Given the description of an element on the screen output the (x, y) to click on. 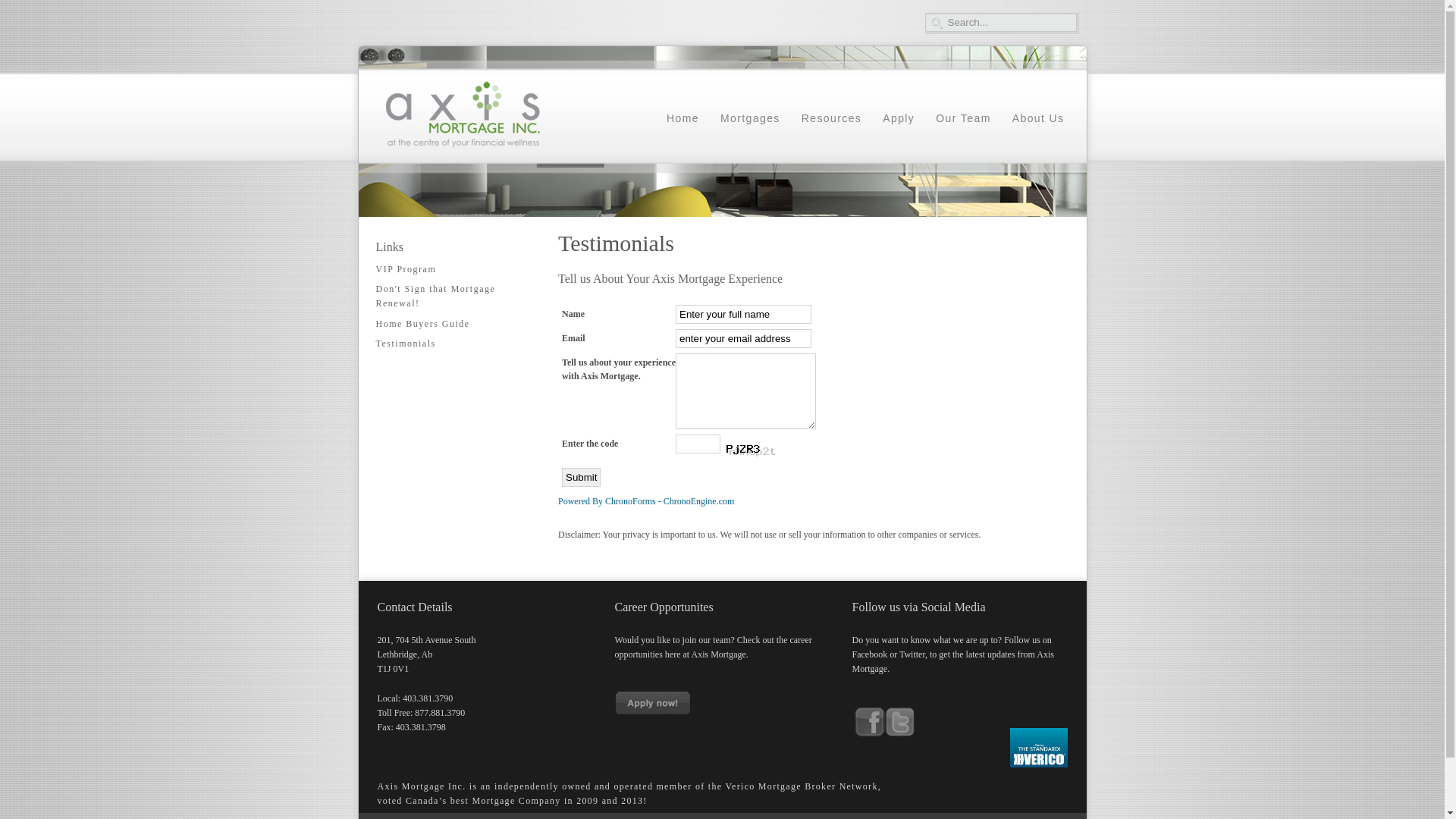
VIP Program Element type: text (451, 269)
Briefly describe how we can be of service. Element type: hover (745, 391)
Don't Sign that Mortgage Renewal! Element type: text (451, 296)
Mortgages Element type: text (750, 125)
Home Buyers Guide Element type: text (451, 323)
Testimonials Element type: text (616, 242)
Apply Element type: text (898, 125)
Resources Element type: text (831, 125)
About Us Element type: text (1038, 125)
Home Element type: text (682, 125)
Testimonials Element type: text (451, 343)
Our Team Element type: text (962, 125)
Powered By ChronoForms - ChronoEngine.com Element type: text (646, 500)
Submit Element type: text (580, 476)
